Given the description of an element on the screen output the (x, y) to click on. 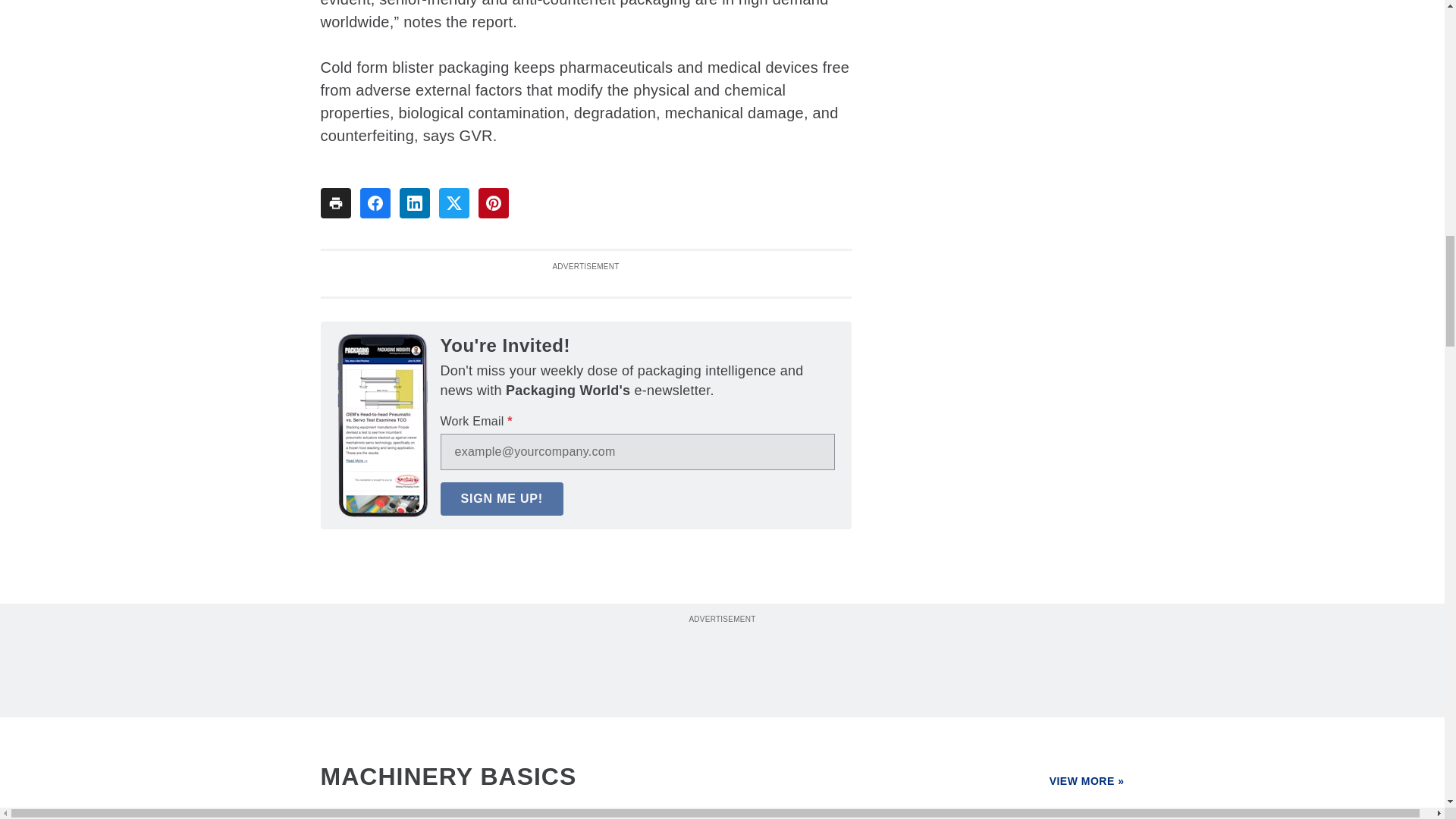
Share To print (335, 203)
